Given the description of an element on the screen output the (x, y) to click on. 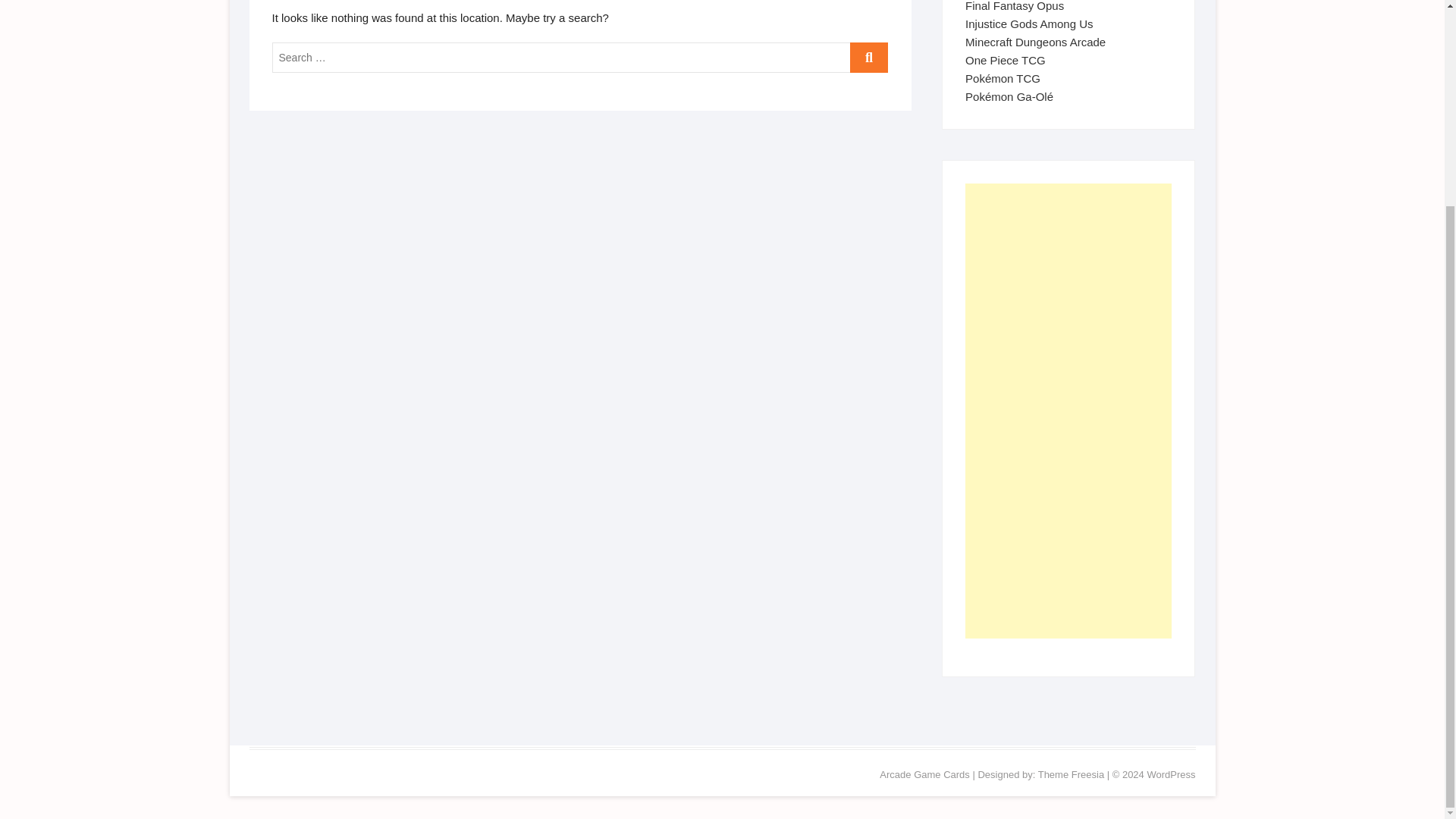
Final Fantasy Opus (1014, 6)
WordPress (1171, 774)
Minecraft Dungeons Arcade (1035, 42)
One Piece TCG (1005, 60)
Injustice Gods Among Us (1029, 23)
Theme Freesia (1070, 774)
WordPress (1171, 774)
Arcade Game Cards (924, 774)
Theme Freesia (1070, 774)
Arcade Game Cards (924, 774)
